Given the description of an element on the screen output the (x, y) to click on. 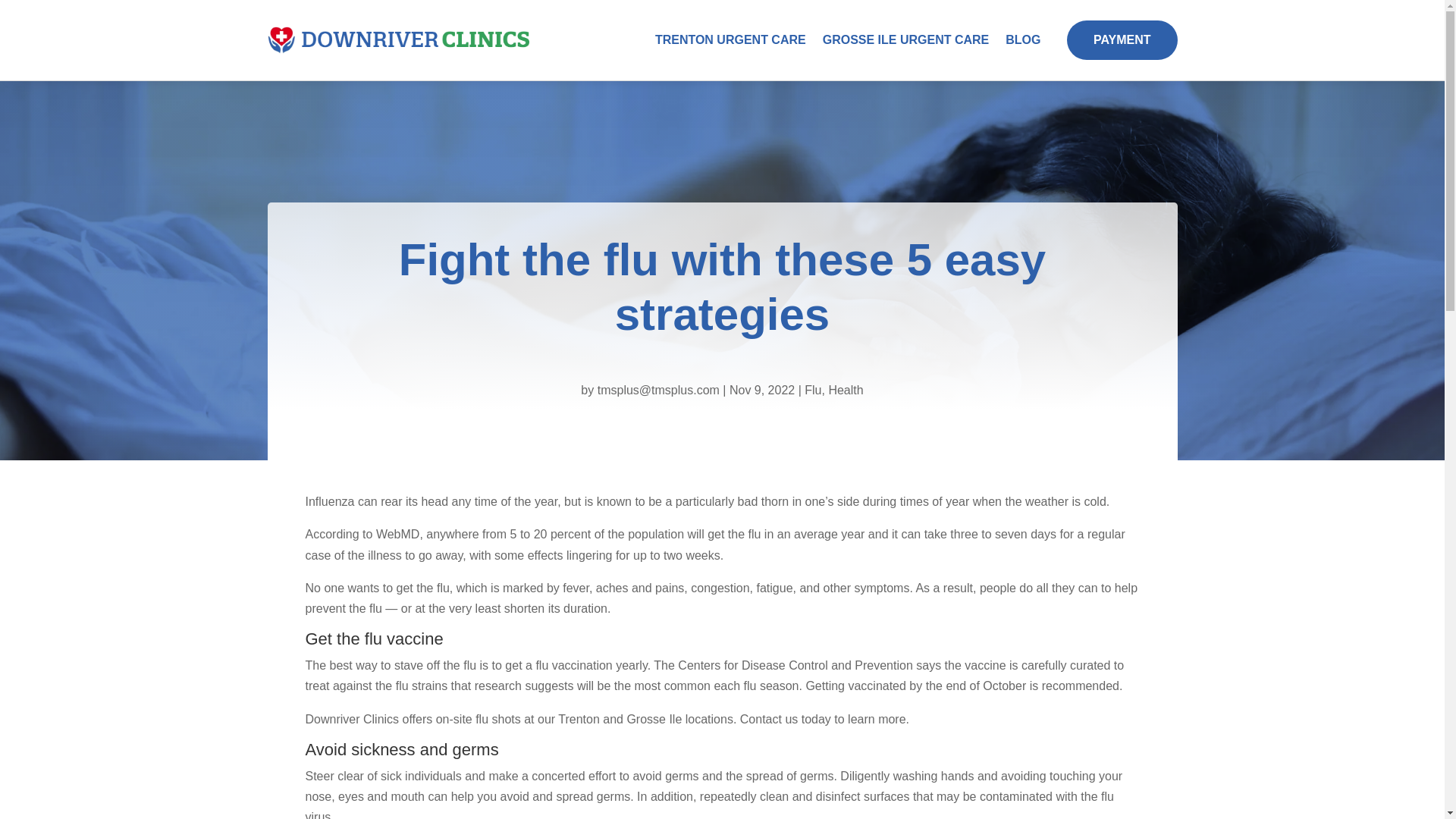
PAYMENT (1122, 39)
TRENTON URGENT CARE (730, 39)
Flu (813, 390)
GROSSE ILE URGENT CARE (906, 39)
Health (845, 390)
